Given the description of an element on the screen output the (x, y) to click on. 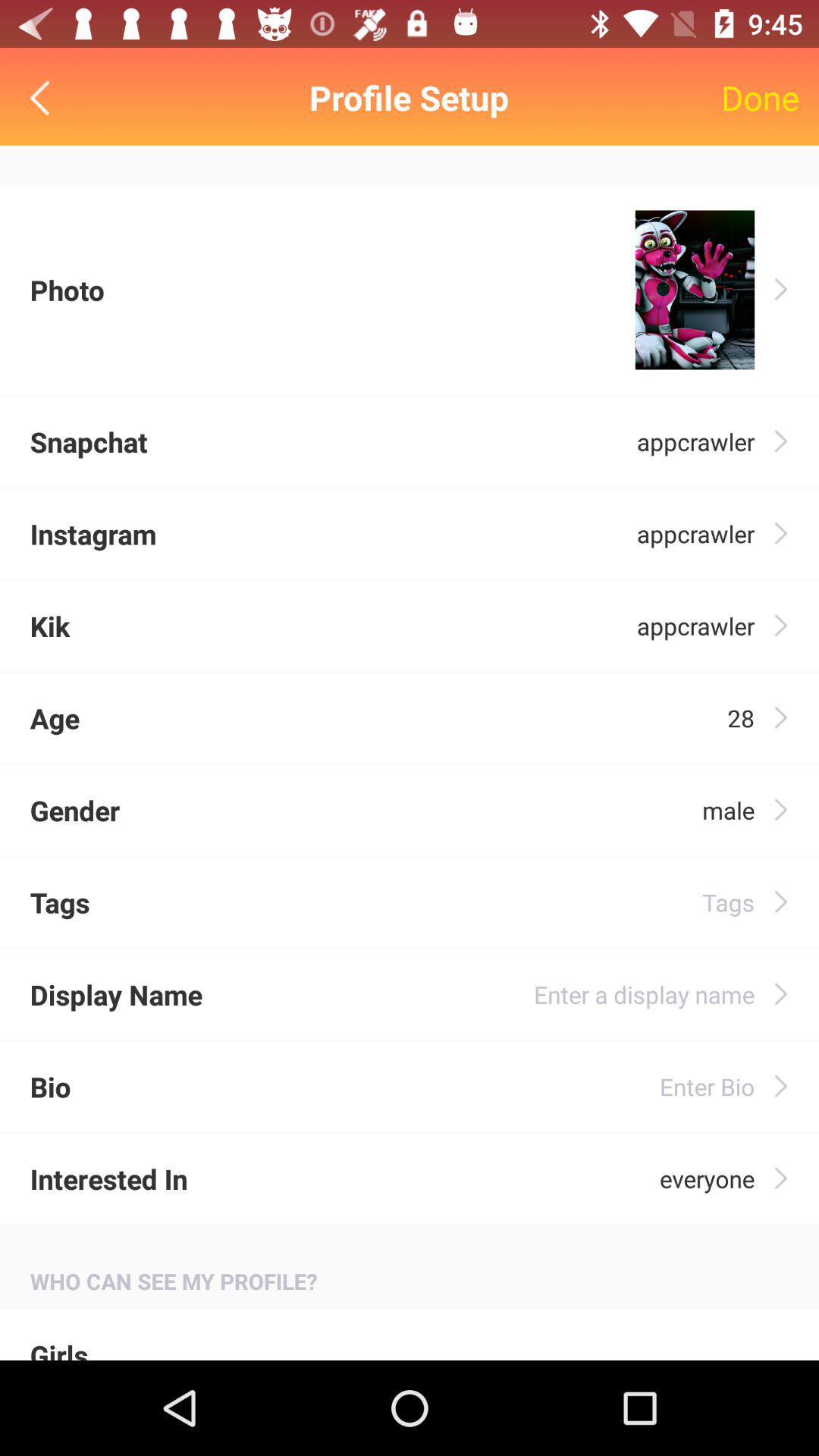
press the done (760, 97)
